Given the description of an element on the screen output the (x, y) to click on. 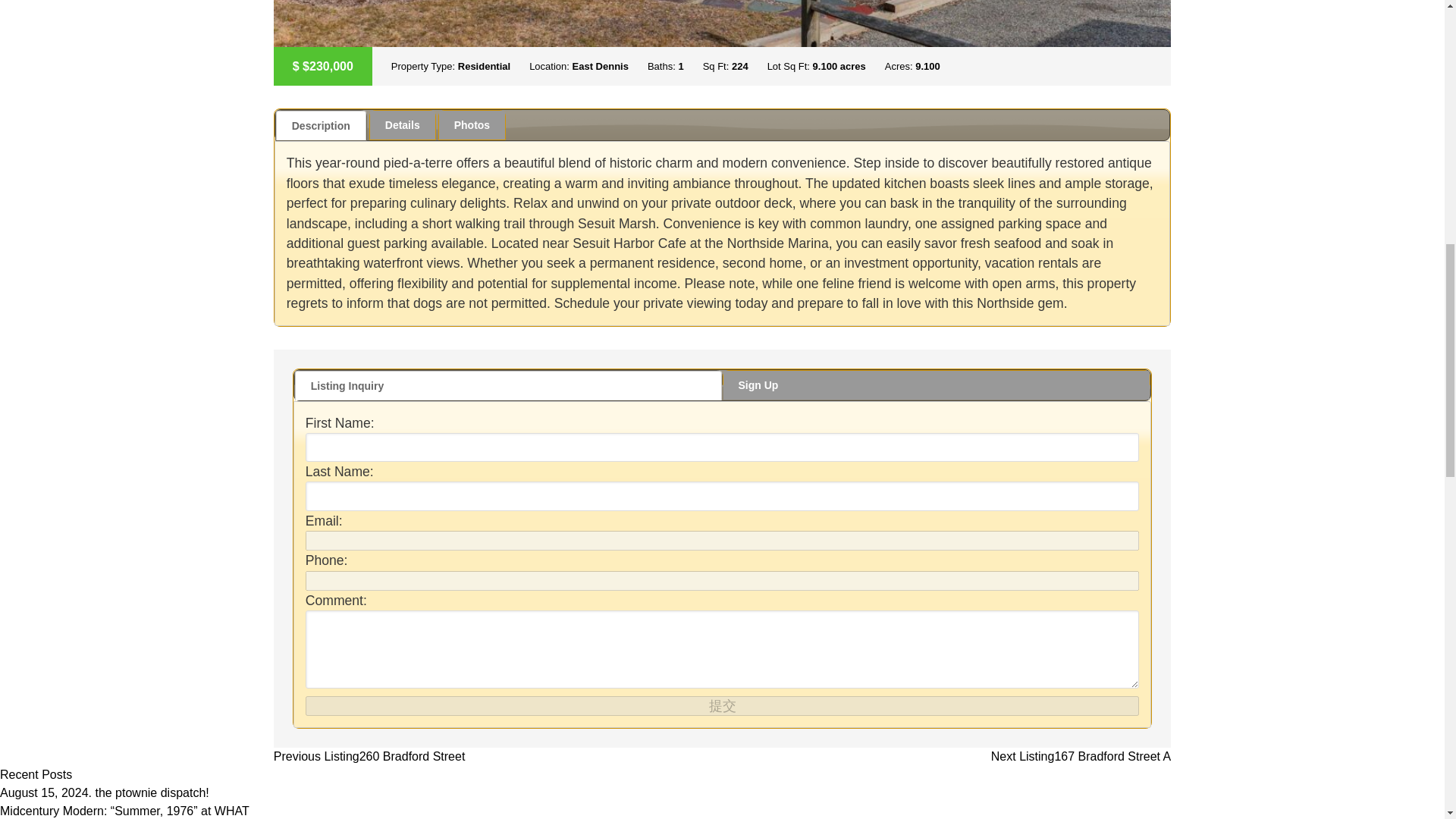
Listing Inquiry (508, 385)
Description (321, 125)
Residential (484, 66)
Sign Up (936, 385)
Photos (472, 124)
East Dennis (599, 66)
Details (402, 124)
